Given the description of an element on the screen output the (x, y) to click on. 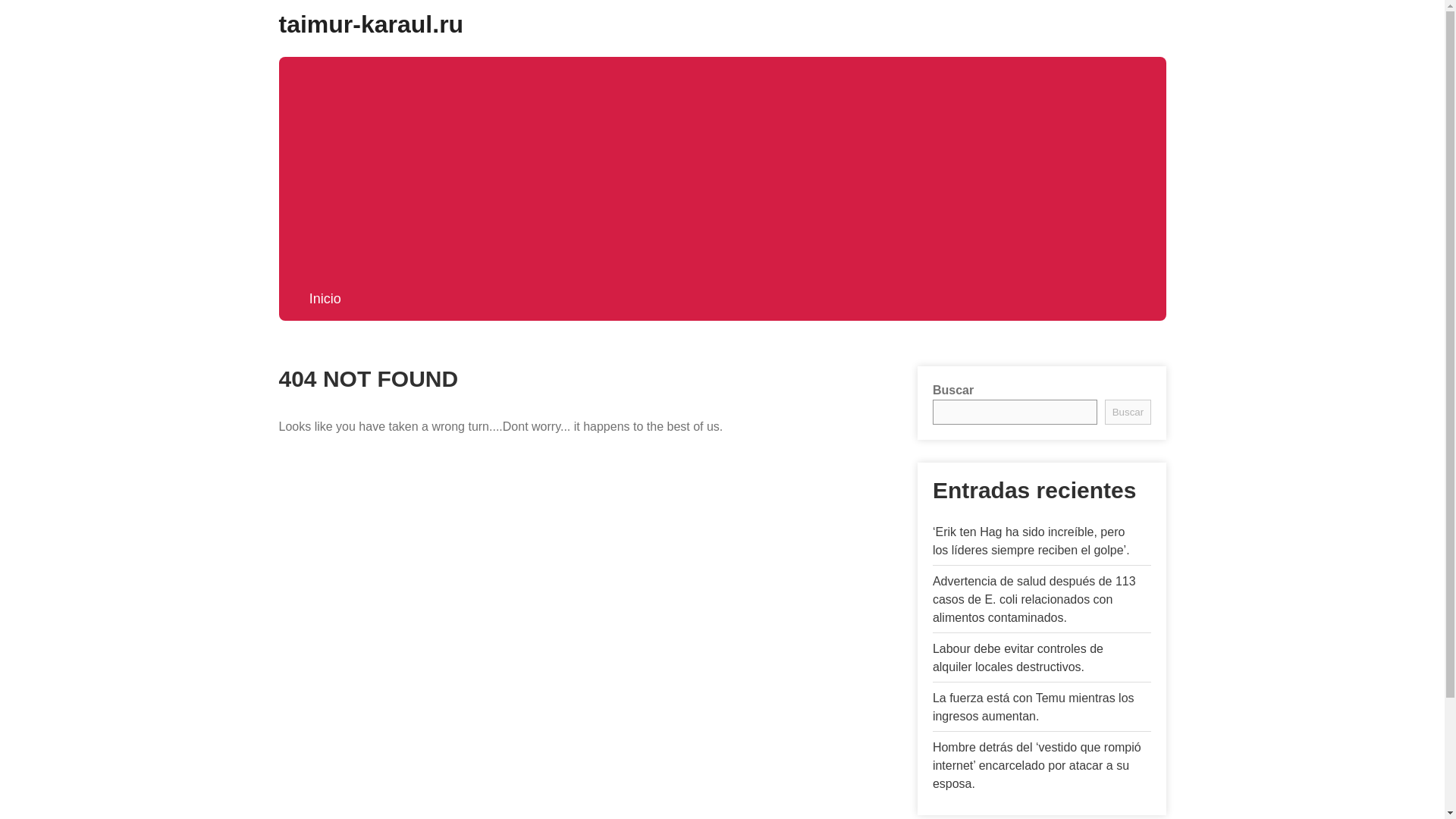
taimur-karaul.ru (371, 23)
Buscar (1127, 412)
Inicio (324, 298)
